Given the description of an element on the screen output the (x, y) to click on. 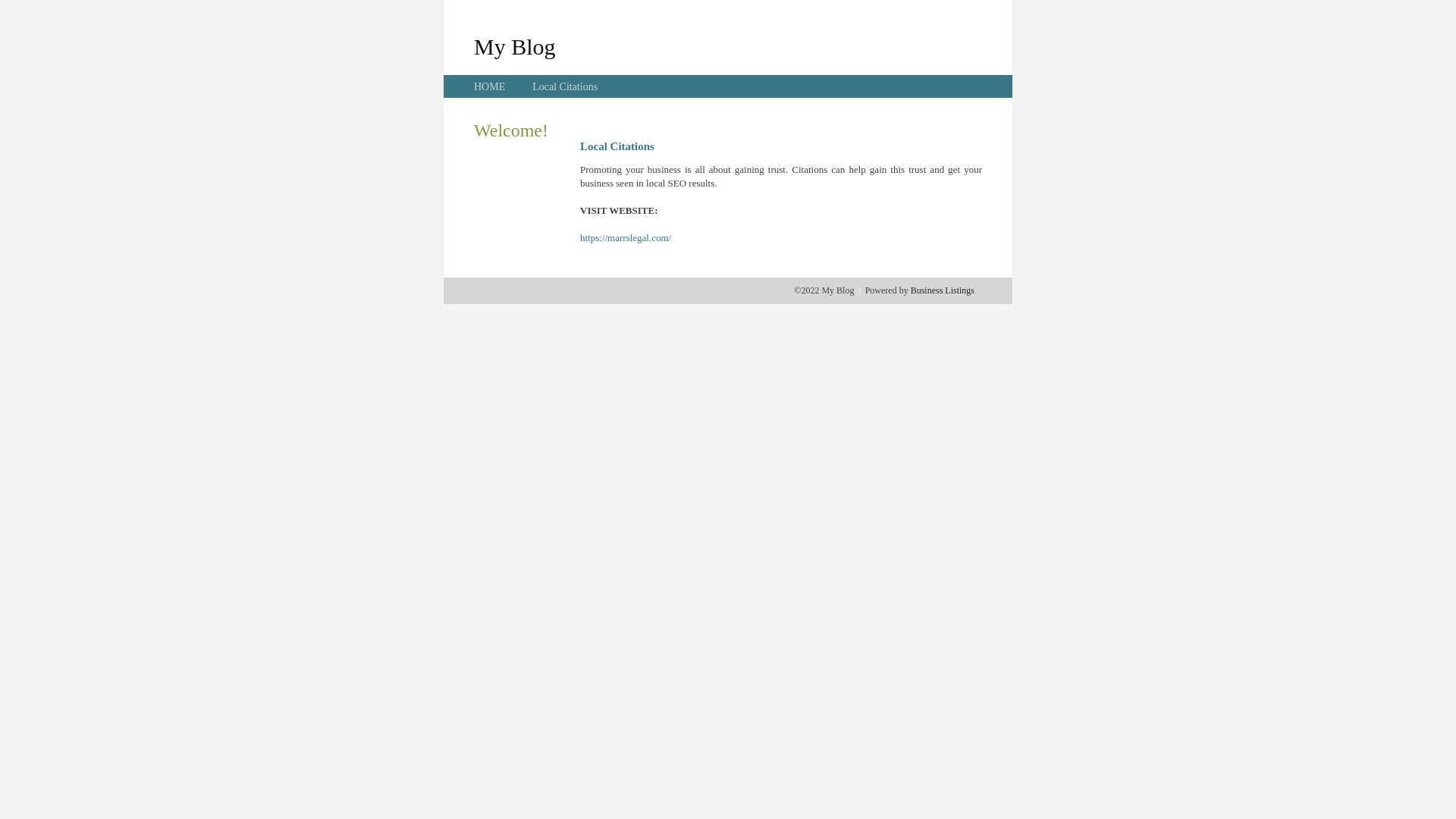
Business Listings Element type: text (942, 290)
My Blog Element type: text (514, 46)
HOME Element type: text (489, 86)
https://marrslegal.com/ Element type: text (625, 237)
Local Citations Element type: text (564, 86)
